Given the description of an element on the screen output the (x, y) to click on. 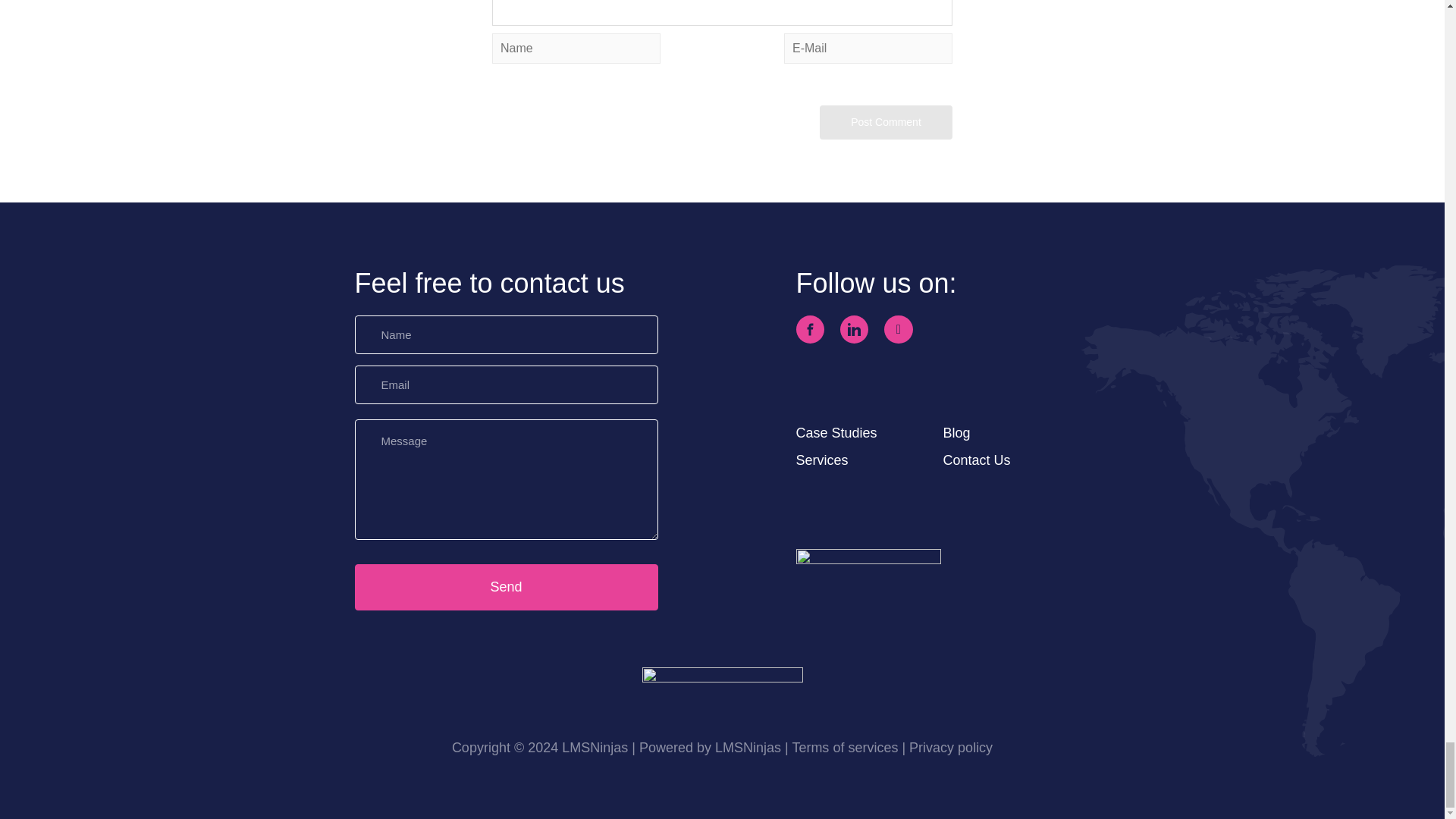
Contact Us (976, 459)
Send (506, 587)
Post Comment (885, 122)
Services (822, 459)
Post Comment (885, 122)
Case Studies (836, 432)
Blog (957, 432)
